Given the description of an element on the screen output the (x, y) to click on. 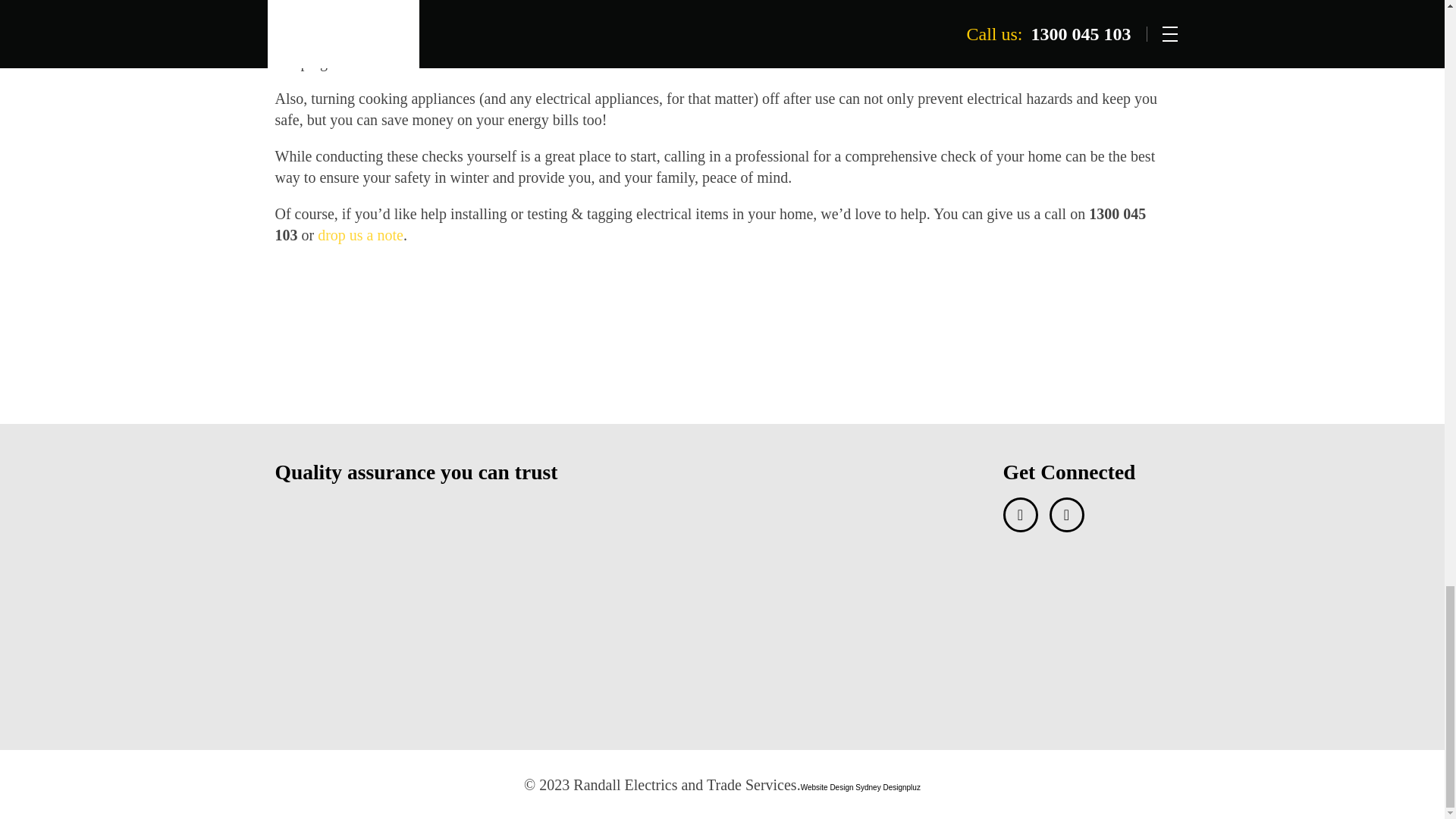
Designpluz (901, 786)
Website Design Sydney (841, 786)
drop us a note (360, 234)
